Given the description of an element on the screen output the (x, y) to click on. 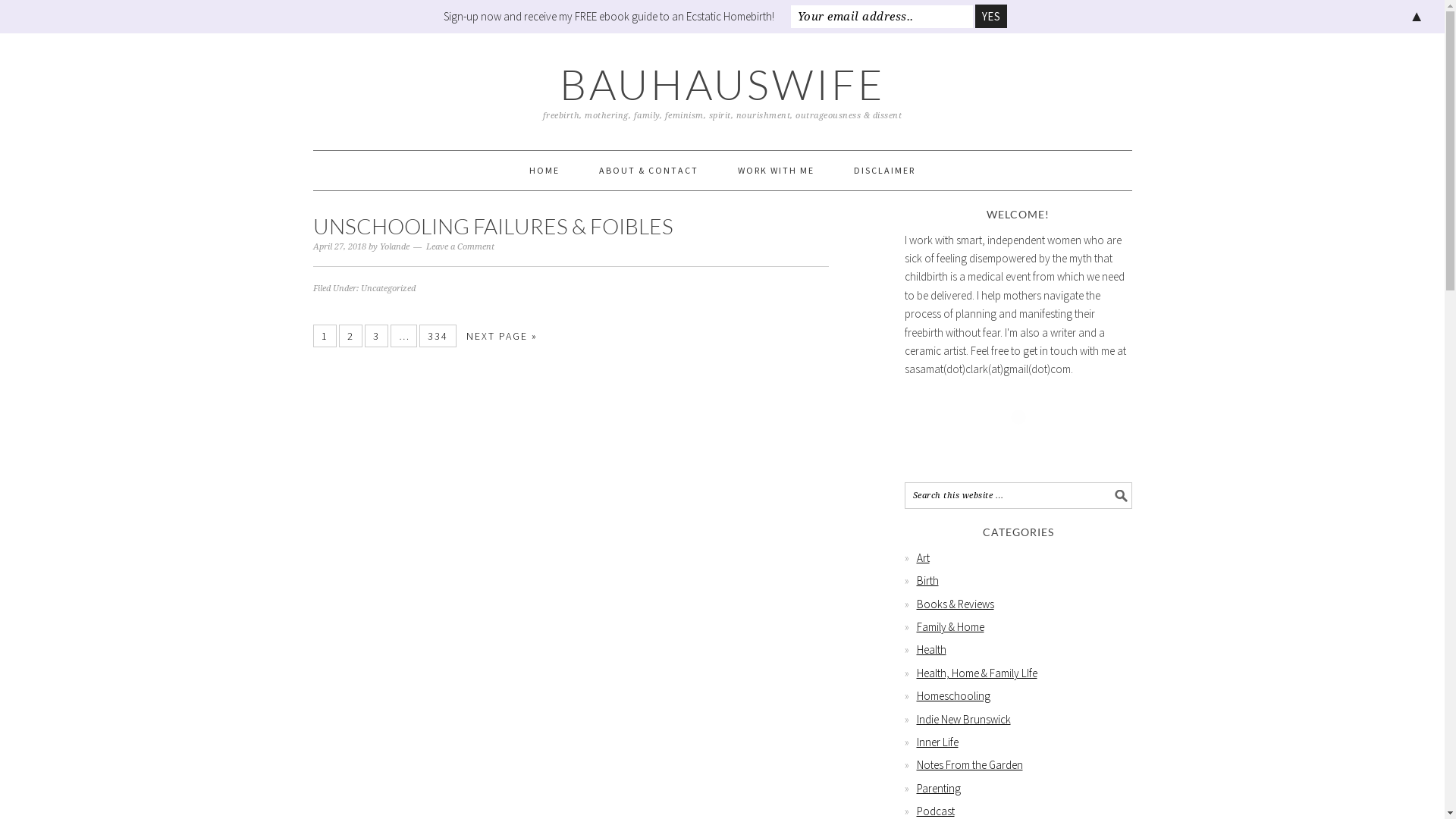
Inner Life Element type: text (936, 741)
Podcast Element type: text (934, 810)
Indie New Brunswick Element type: text (963, 718)
Health, Home & Family LIfe Element type: text (976, 672)
Yolande Element type: text (393, 246)
HOME Element type: text (544, 170)
3 Element type: text (376, 335)
BAUHAUSWIFE Element type: text (722, 83)
Uncategorized Element type: text (387, 288)
Notes From the Garden Element type: text (969, 764)
Leave a Comment Element type: text (460, 246)
DISCLAIMER Element type: text (884, 170)
Books & Reviews Element type: text (954, 603)
WORK WITH ME Element type: text (775, 170)
Birth Element type: text (927, 580)
Art Element type: text (922, 557)
Family & Home Element type: text (949, 626)
Homeschooling Element type: text (952, 695)
1 Element type: text (324, 335)
Health Element type: text (930, 649)
334 Element type: text (437, 335)
ABOUT & CONTACT Element type: text (648, 170)
Yes Element type: text (991, 16)
Search Element type: text (1131, 481)
UNSCHOOLING FAILURES & FOIBLES Element type: text (492, 225)
Parenting Element type: text (938, 788)
2 Element type: text (350, 335)
